Given the description of an element on the screen output the (x, y) to click on. 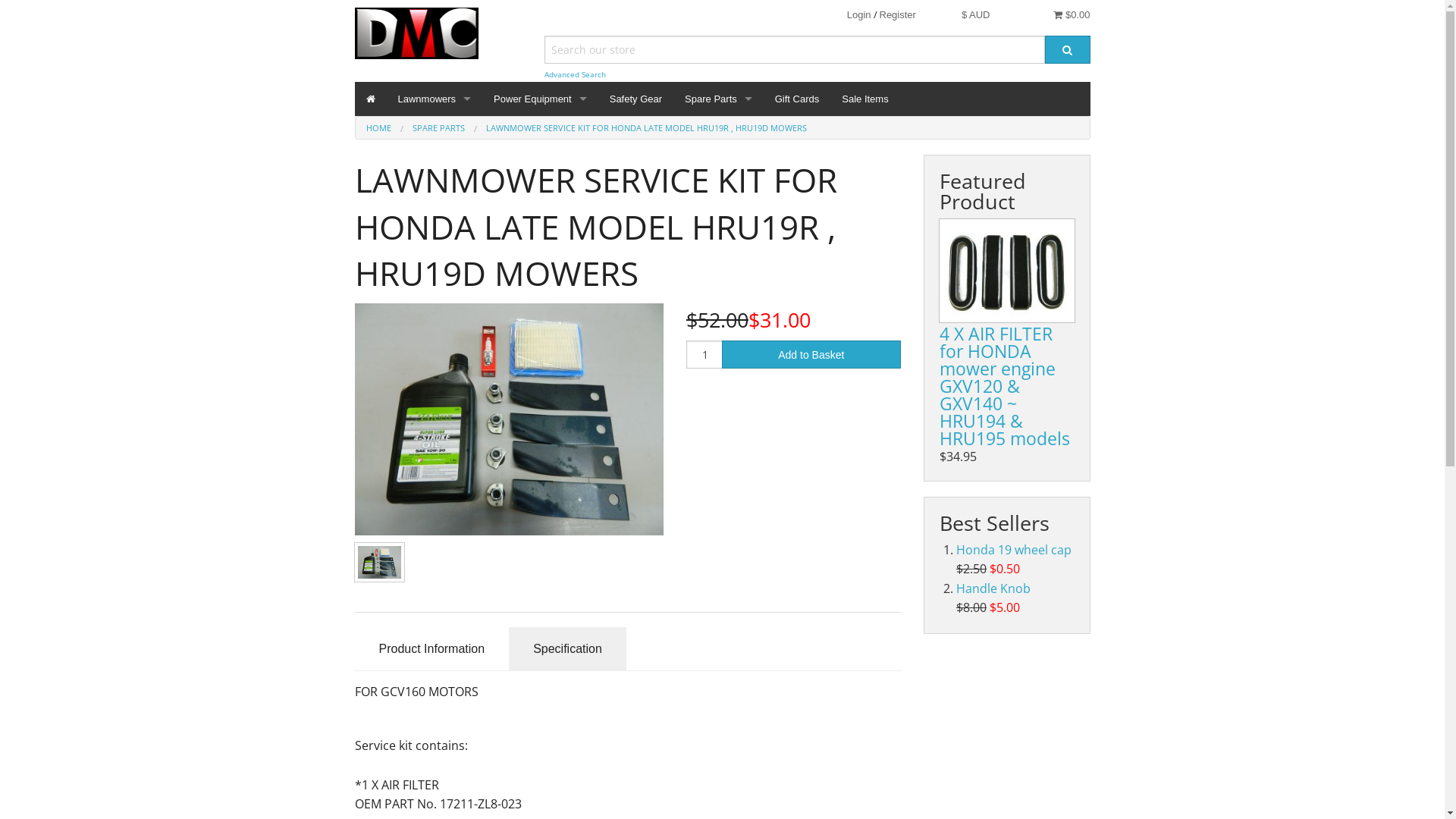
Oils Element type: text (718, 356)
Self propelled mower Element type: text (434, 186)
Honda 19 wheel cap Element type: text (1013, 549)
Pumps Element type: text (540, 459)
Gift Cards Element type: text (797, 98)
Cordless re-chargable range Element type: text (540, 390)
Product Information Element type: text (431, 649)
chainsaw parts Element type: text (718, 254)
Air Filters Element type: text (718, 151)
Cutting Heads Element type: text (718, 288)
Post Driver Element type: text (540, 424)
Grass catchers Element type: text (718, 322)
Power Equipment Element type: text (540, 98)
Lawnmowers Element type: text (434, 98)
$0.00 Element type: text (1071, 14)
Search Element type: text (1067, 49)
Login Element type: text (859, 14)
Power Cleaners Element type: text (540, 151)
HOME Element type: text (377, 127)
Hedge pruner Element type: text (540, 322)
Wheels & axles Element type: text (718, 493)
Spare Parts Element type: text (718, 98)
Chainsaw & accessories Element type: text (540, 288)
Transmission & Engine parts Element type: text (718, 424)
Edger Element type: text (540, 186)
Cables & Controls Element type: text (718, 220)
Blades Element type: text (718, 186)
Specification Element type: text (567, 649)
Register Element type: text (897, 14)
Add to Basket Element type: text (810, 354)
Safety Gear Element type: text (635, 98)
multifunctional brushcutter Element type: text (540, 254)
Handle Knob Element type: text (993, 588)
Leaf blower Element type: text (540, 356)
SPARE PARTS Element type: text (438, 127)
Trimline Element type: text (718, 459)
Sprayers Element type: text (540, 493)
Ride-on mower accessories Element type: text (718, 390)
Ride-On Mowers / Zero Turn Mowers Element type: text (434, 151)
Brush-cutter Element type: text (540, 220)
Sale Items Element type: text (864, 98)
Advanced Search Element type: text (574, 74)
Home Element type: hover (370, 98)
